Given the description of an element on the screen output the (x, y) to click on. 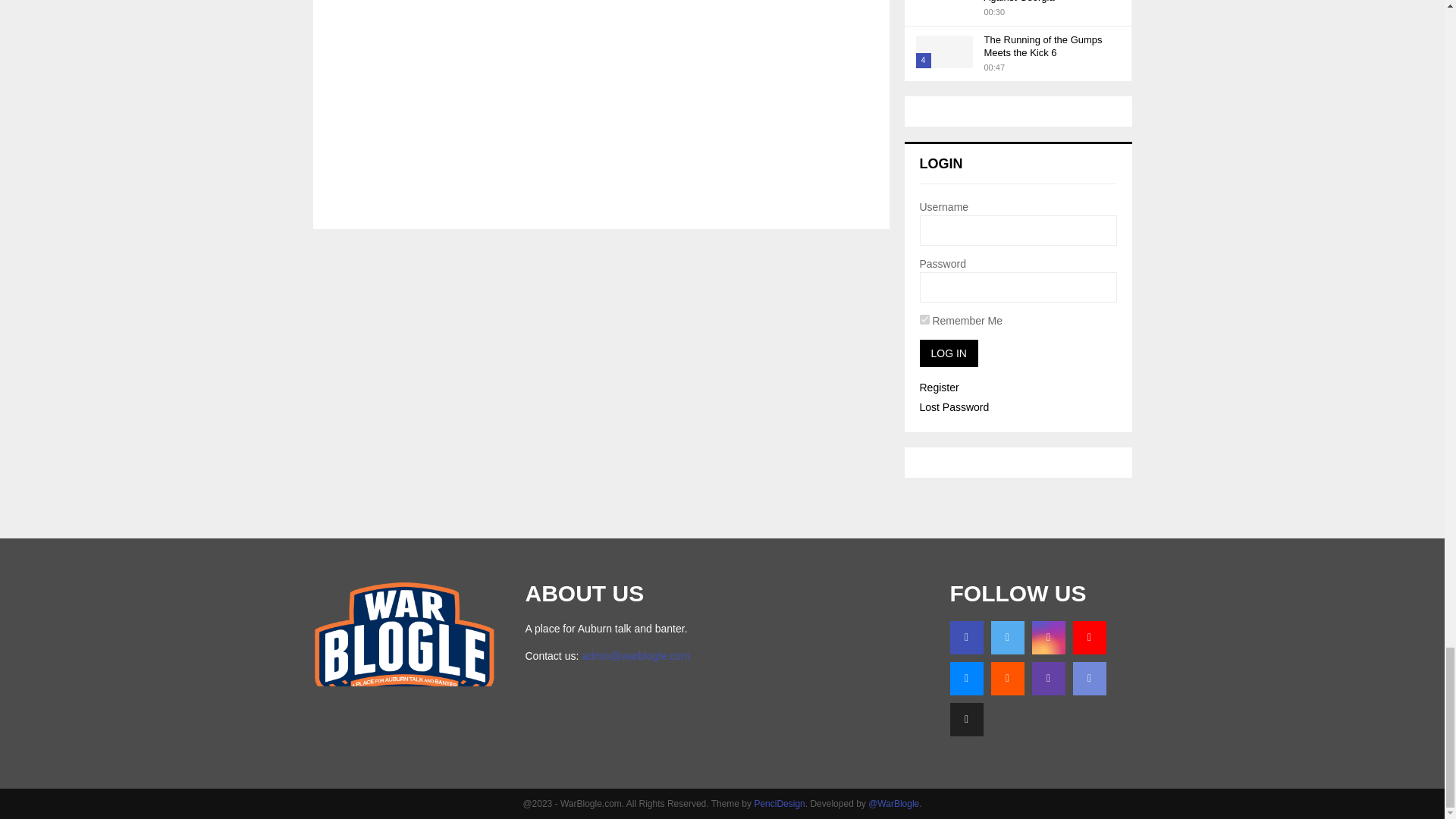
Log In (947, 352)
forever (923, 319)
